Given the description of an element on the screen output the (x, y) to click on. 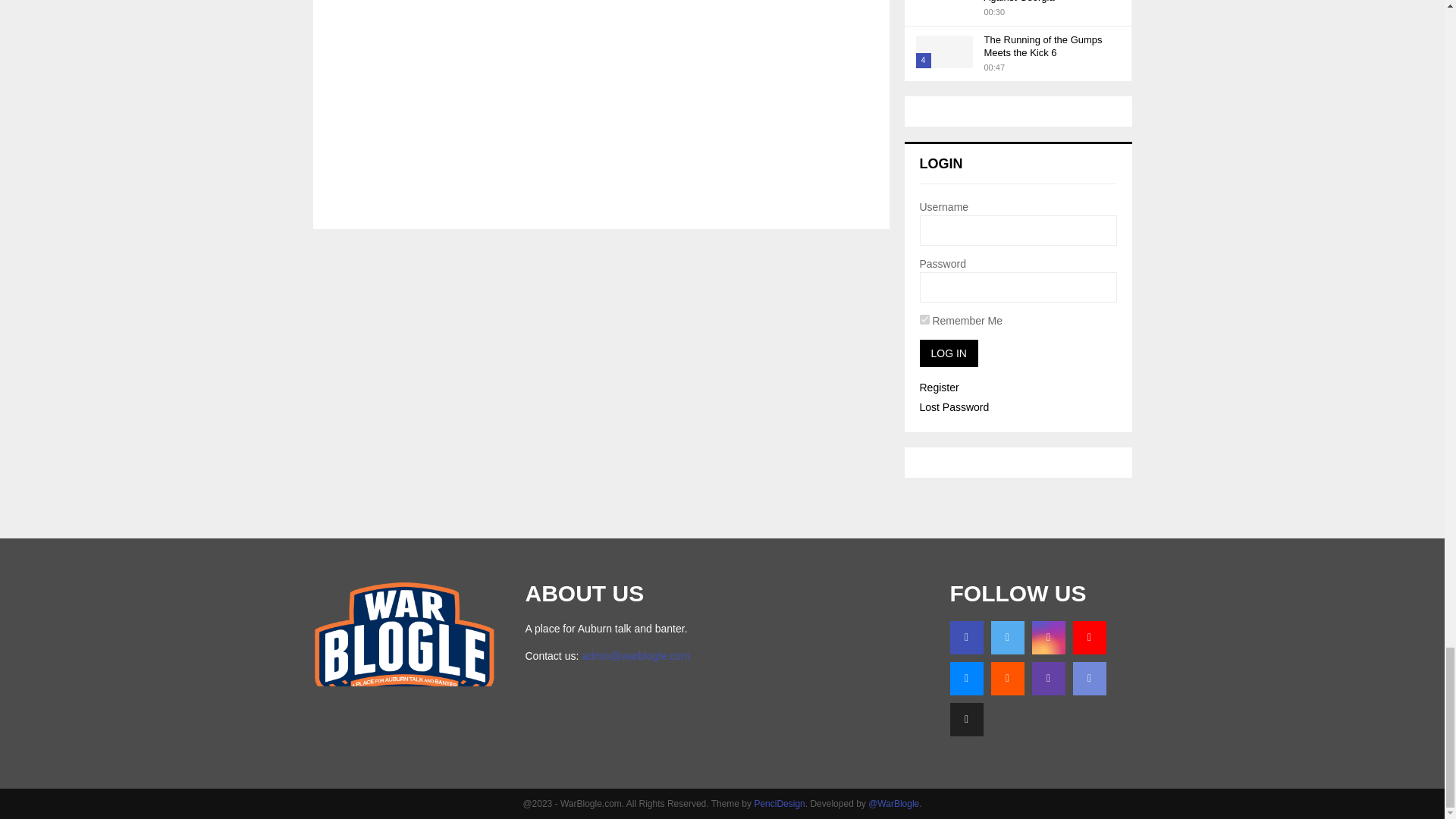
Log In (947, 352)
forever (923, 319)
